Given the description of an element on the screen output the (x, y) to click on. 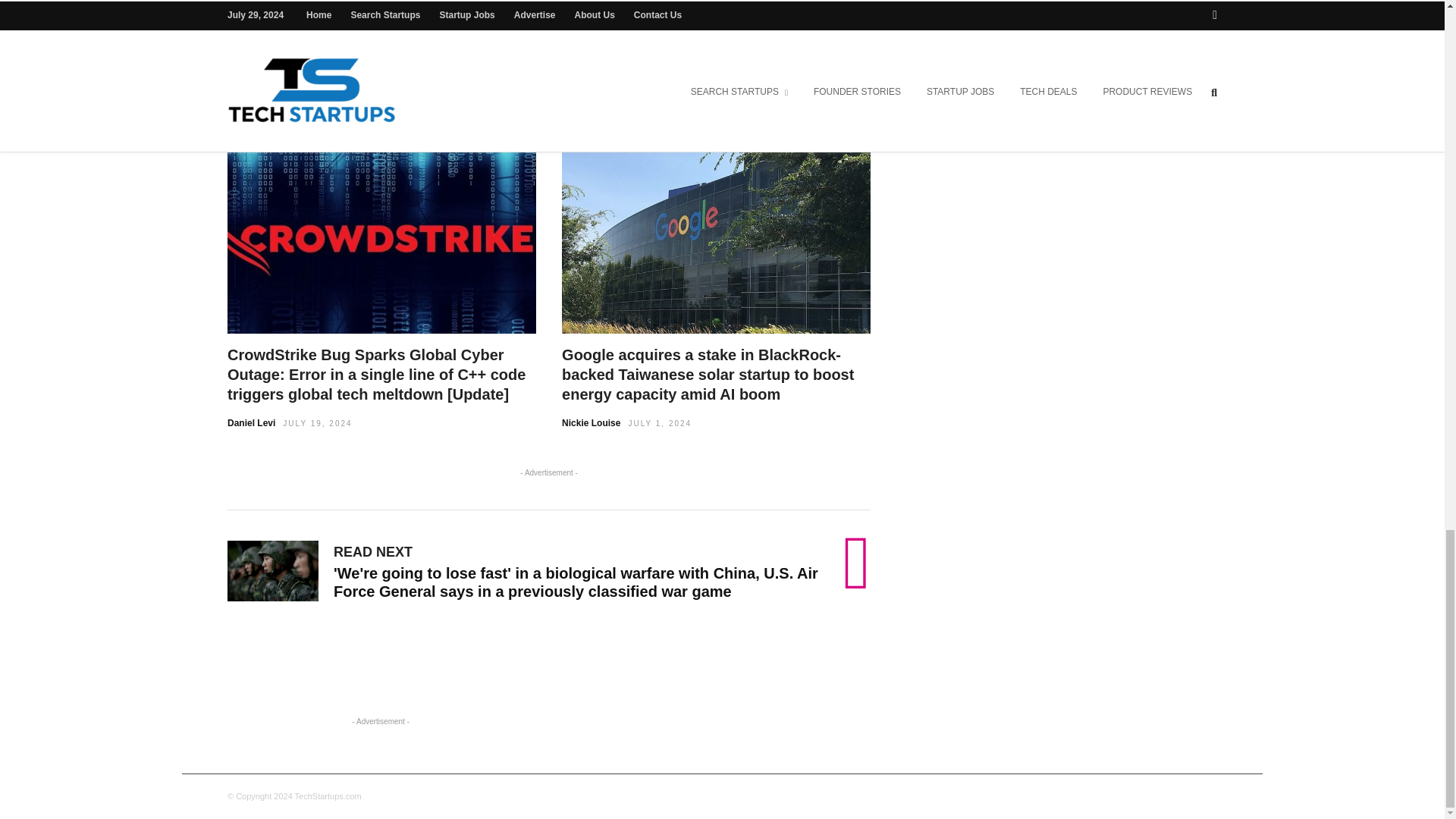
Share by Email (711, 11)
Share On Twitter (586, 11)
Share On Facebook (446, 11)
Share On Pinterest (662, 11)
